Given the description of an element on the screen output the (x, y) to click on. 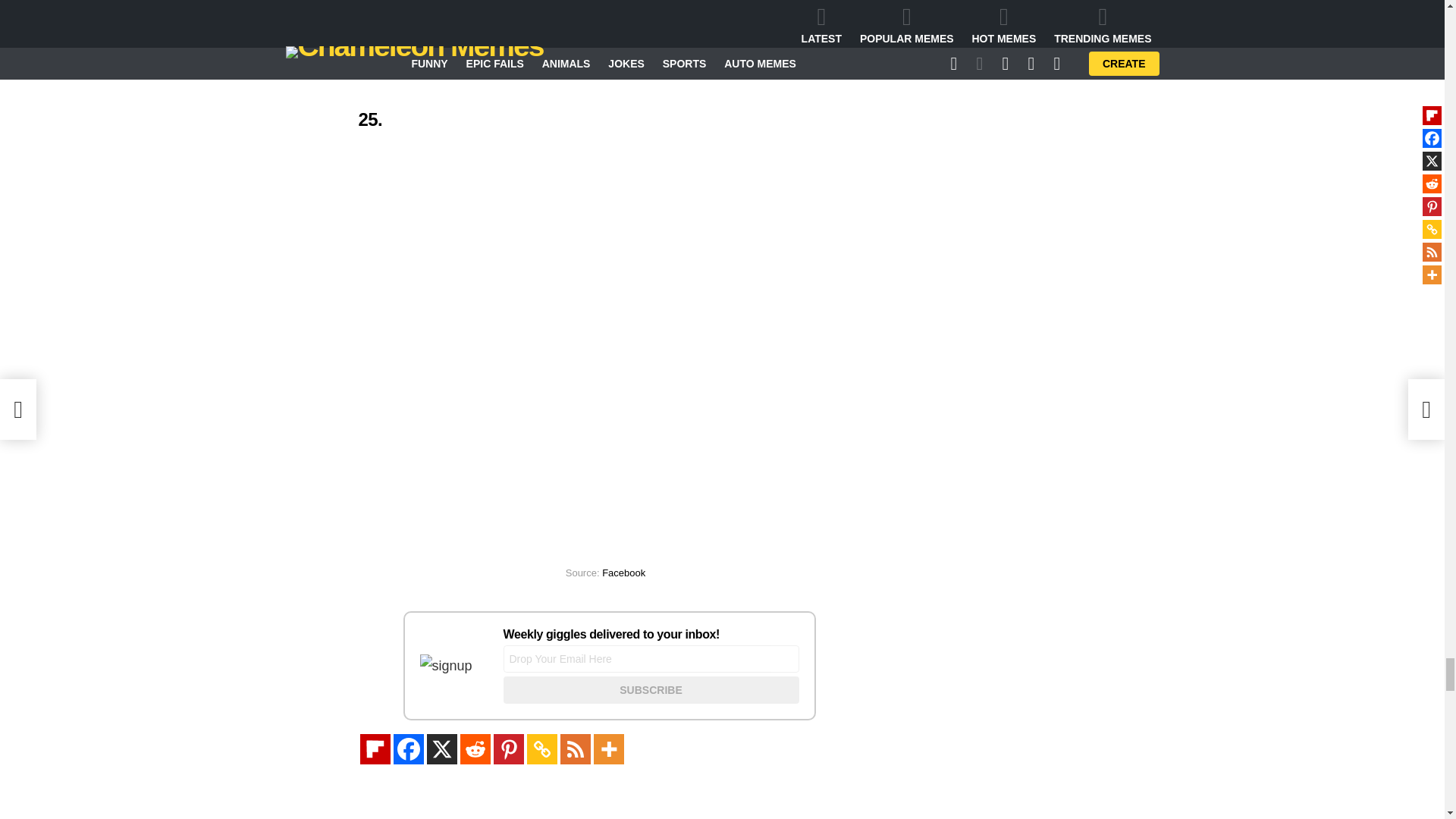
Subscribe (651, 689)
